Given the description of an element on the screen output the (x, y) to click on. 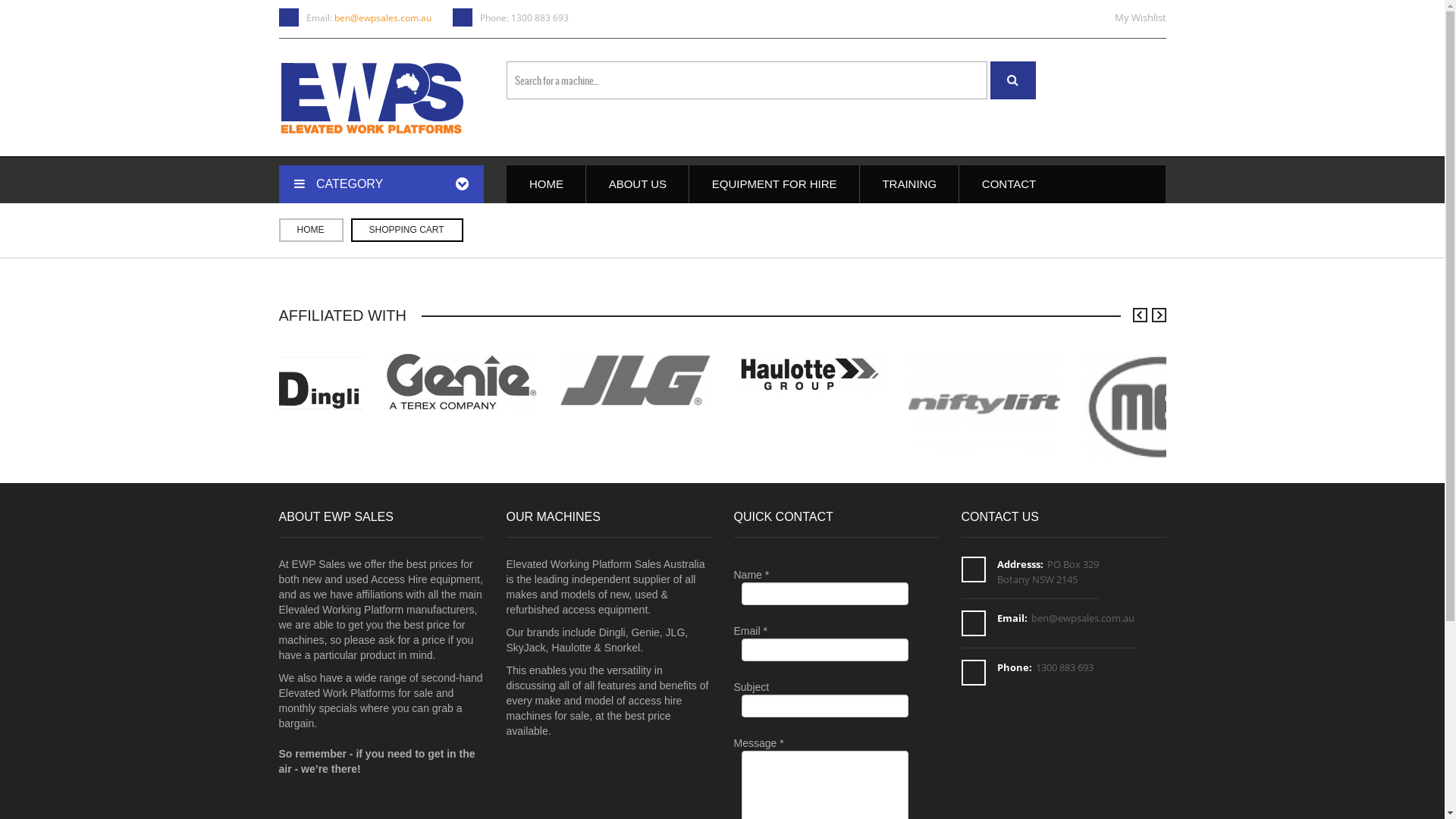
GO Element type: text (1012, 80)
CONTACT Element type: text (1007, 184)
HOME Element type: text (311, 229)
TRAINING Element type: text (908, 184)
My Wishlist Element type: text (1140, 17)
HOME Element type: text (546, 184)
ben@ewpsales.com.au Element type: text (381, 17)
ben@ewpsales.com.au Element type: text (1082, 617)
ABOUT US Element type: text (636, 184)
EQUIPMENT FOR HIRE Element type: text (773, 184)
